Given the description of an element on the screen output the (x, y) to click on. 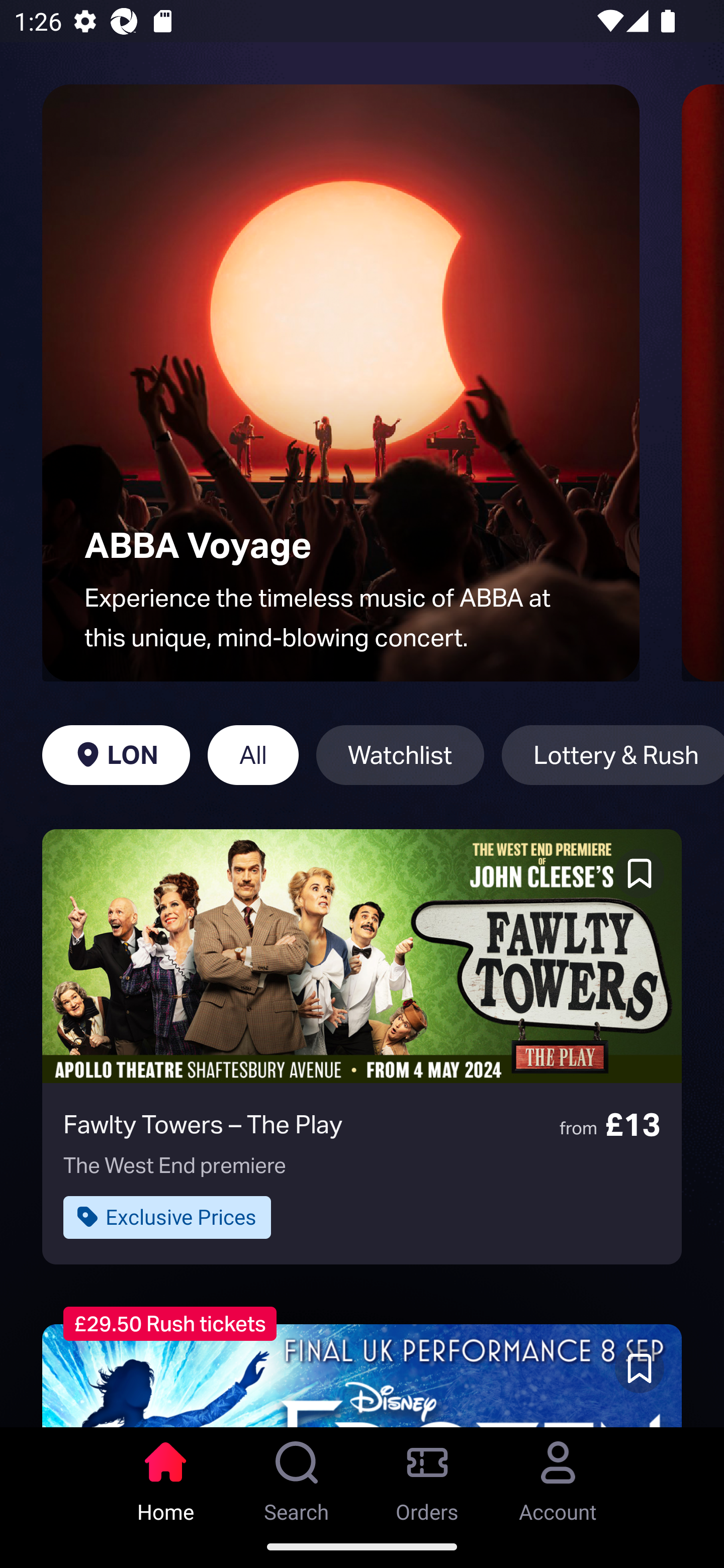
LON (115, 754)
All (252, 754)
Watchlist (400, 754)
Lottery & Rush (612, 754)
Search (296, 1475)
Orders (427, 1475)
Account (558, 1475)
